Given the description of an element on the screen output the (x, y) to click on. 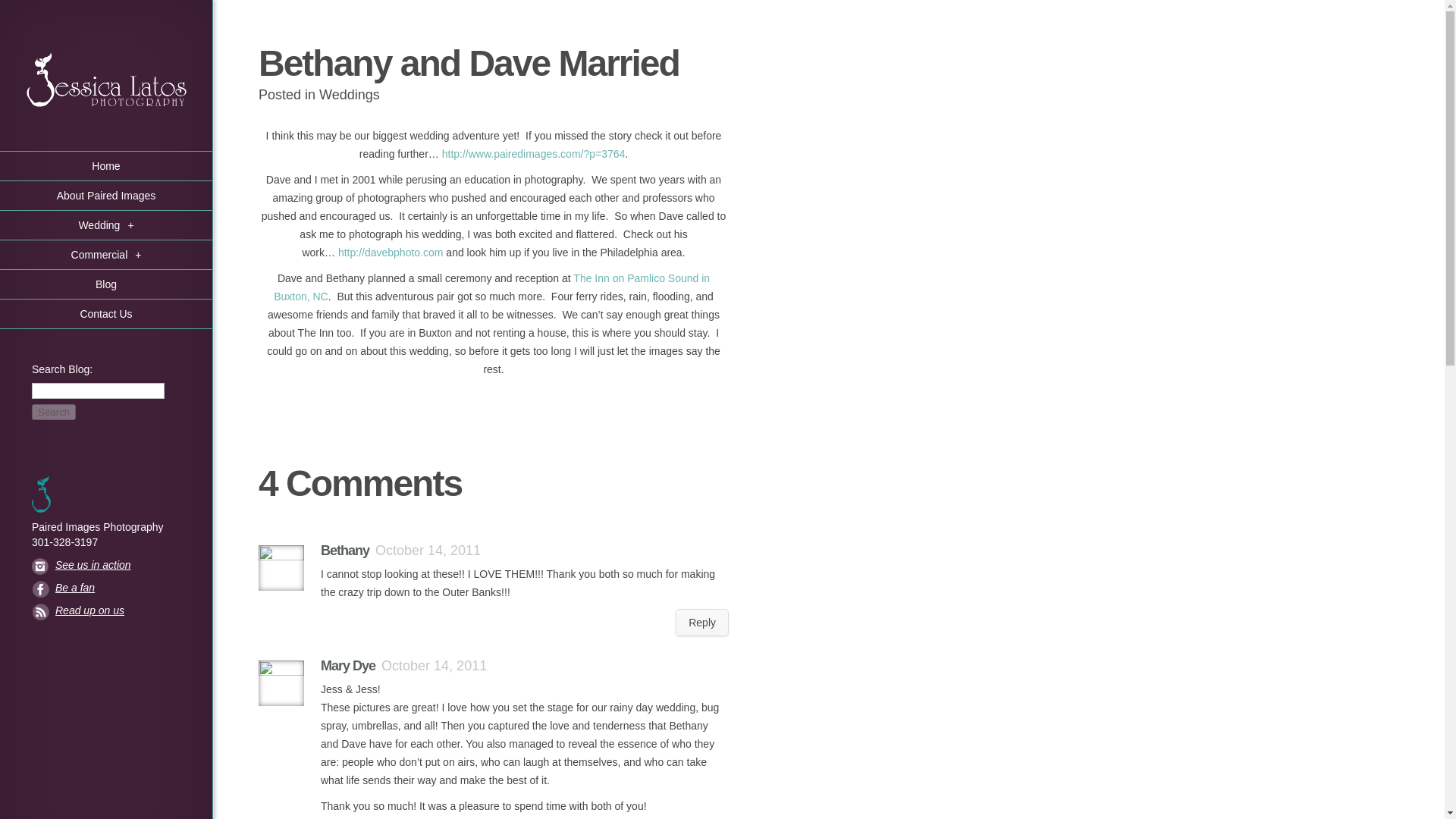
The Inn on Pamlico Sound in Buxton, NC (491, 286)
See us in action (106, 564)
Search (53, 412)
Weddings (349, 94)
Read up on us (106, 610)
About Paired Images (106, 195)
Be a fan (106, 587)
Home (106, 165)
Reply (702, 622)
Contact Us (106, 314)
Search (53, 412)
Blog (106, 284)
